Given the description of an element on the screen output the (x, y) to click on. 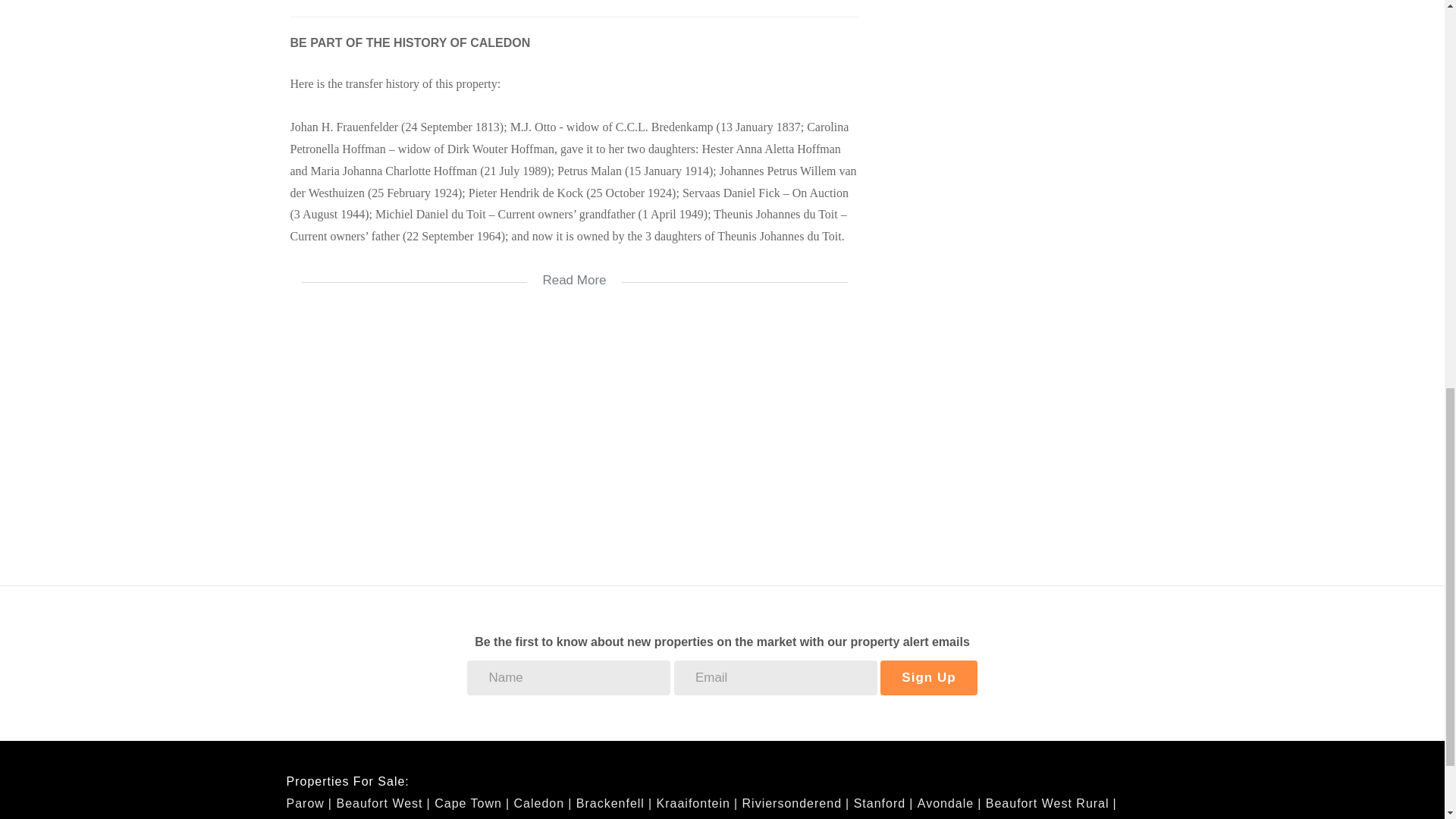
Properties for sale in Normandie, Brackenfell (657, 818)
Properties for sale in Beaufort West (382, 802)
Properties for sale in Parow (309, 802)
Read More (574, 270)
Properties for sale in Kraaifontein (697, 802)
Properties for sale in Riviersonderend (796, 802)
google map (574, 433)
Read More (574, 270)
